Given the description of an element on the screen output the (x, y) to click on. 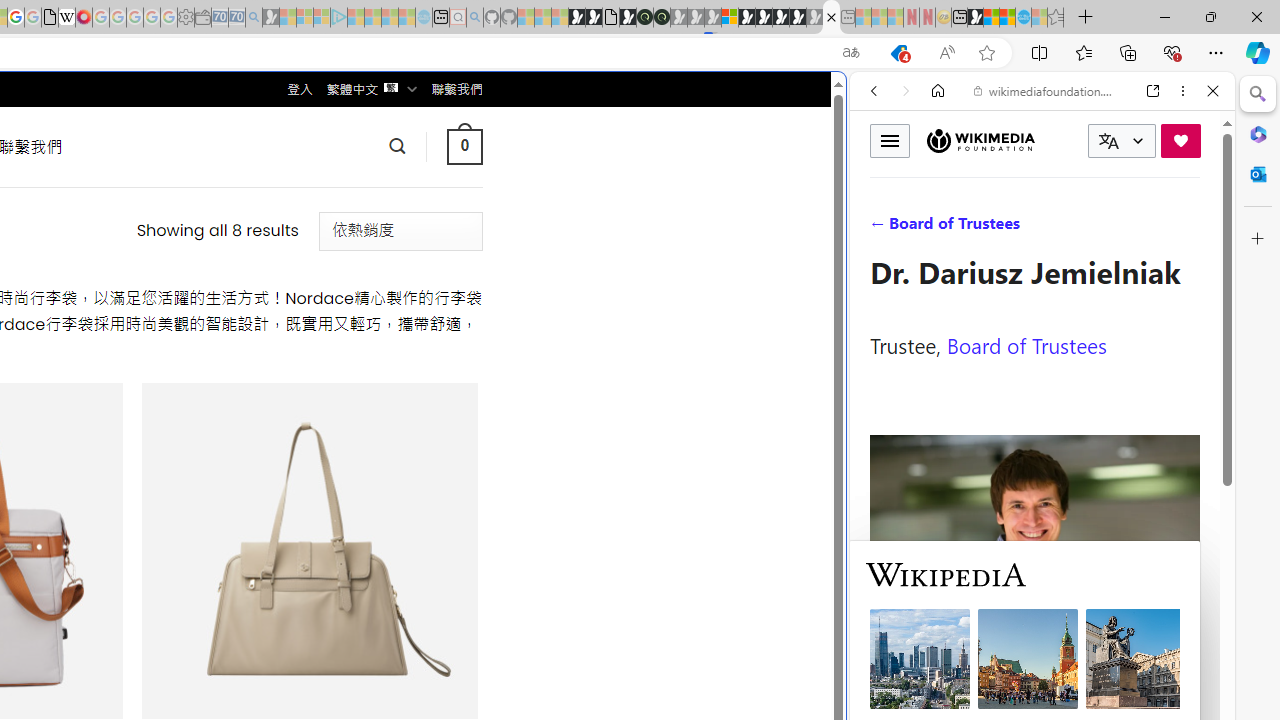
Class: i icon icon-translate language-switcher__icon (1108, 141)
Tabs you've opened (276, 265)
  0   (464, 146)
